Given the description of an element on the screen output the (x, y) to click on. 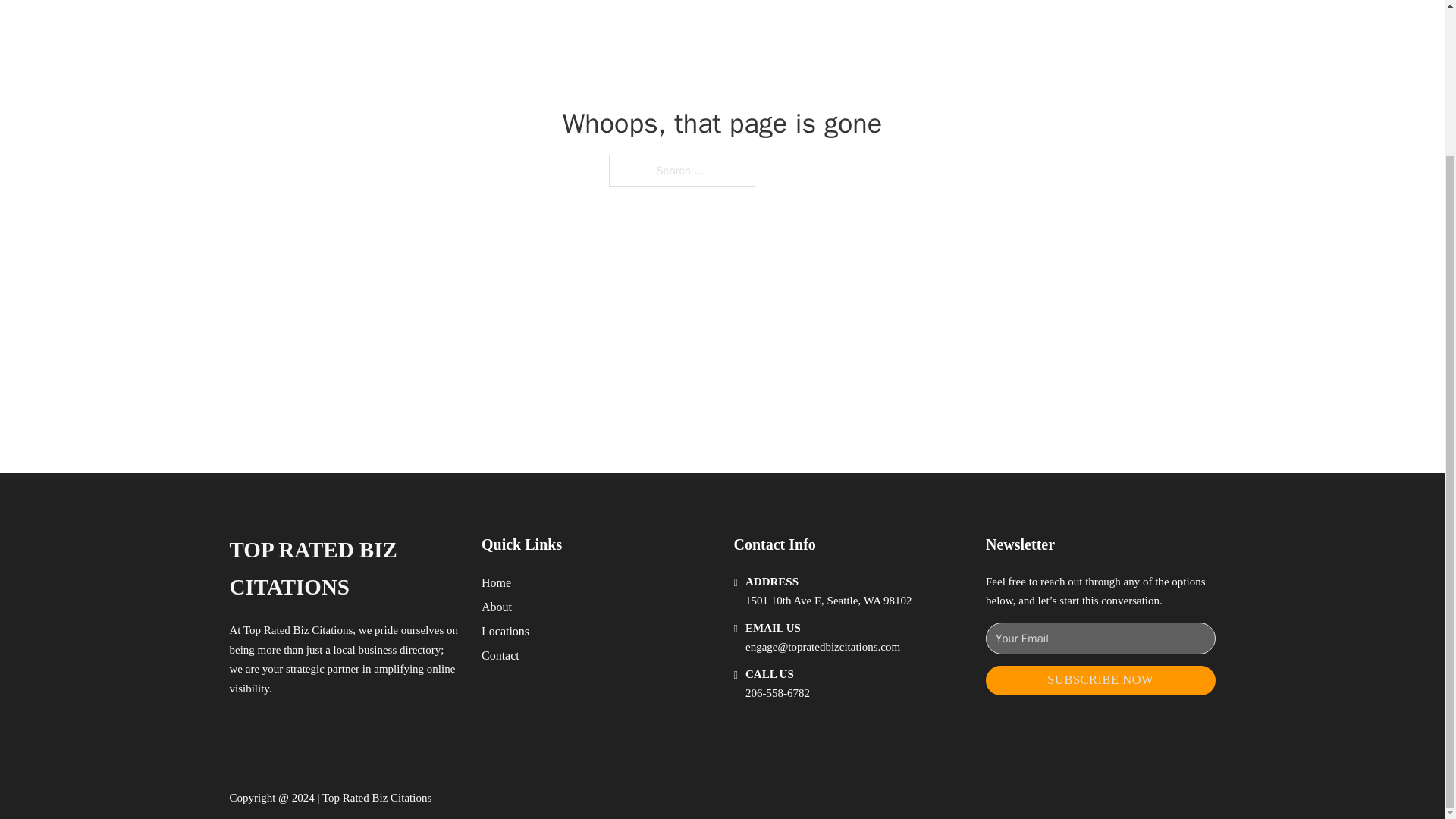
About (496, 607)
Locations (505, 630)
206-558-6782 (777, 693)
TOP RATED BIZ CITATIONS (343, 568)
Contact (500, 655)
SUBSCRIBE NOW (1100, 680)
Home (496, 582)
